Given the description of an element on the screen output the (x, y) to click on. 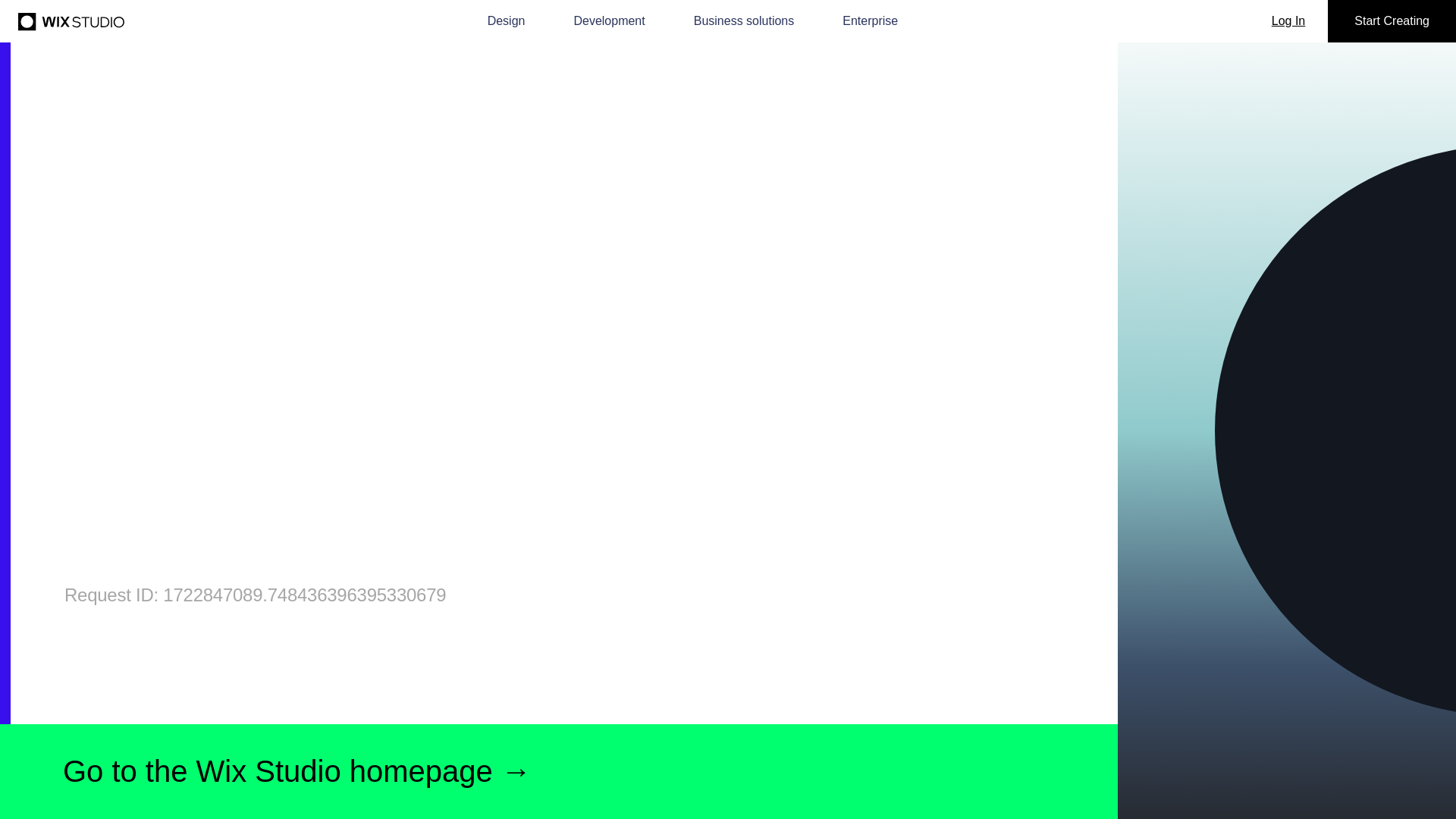
Design (506, 21)
Enterprise (870, 21)
Business solutions (744, 21)
Development (609, 21)
